Given the description of an element on the screen output the (x, y) to click on. 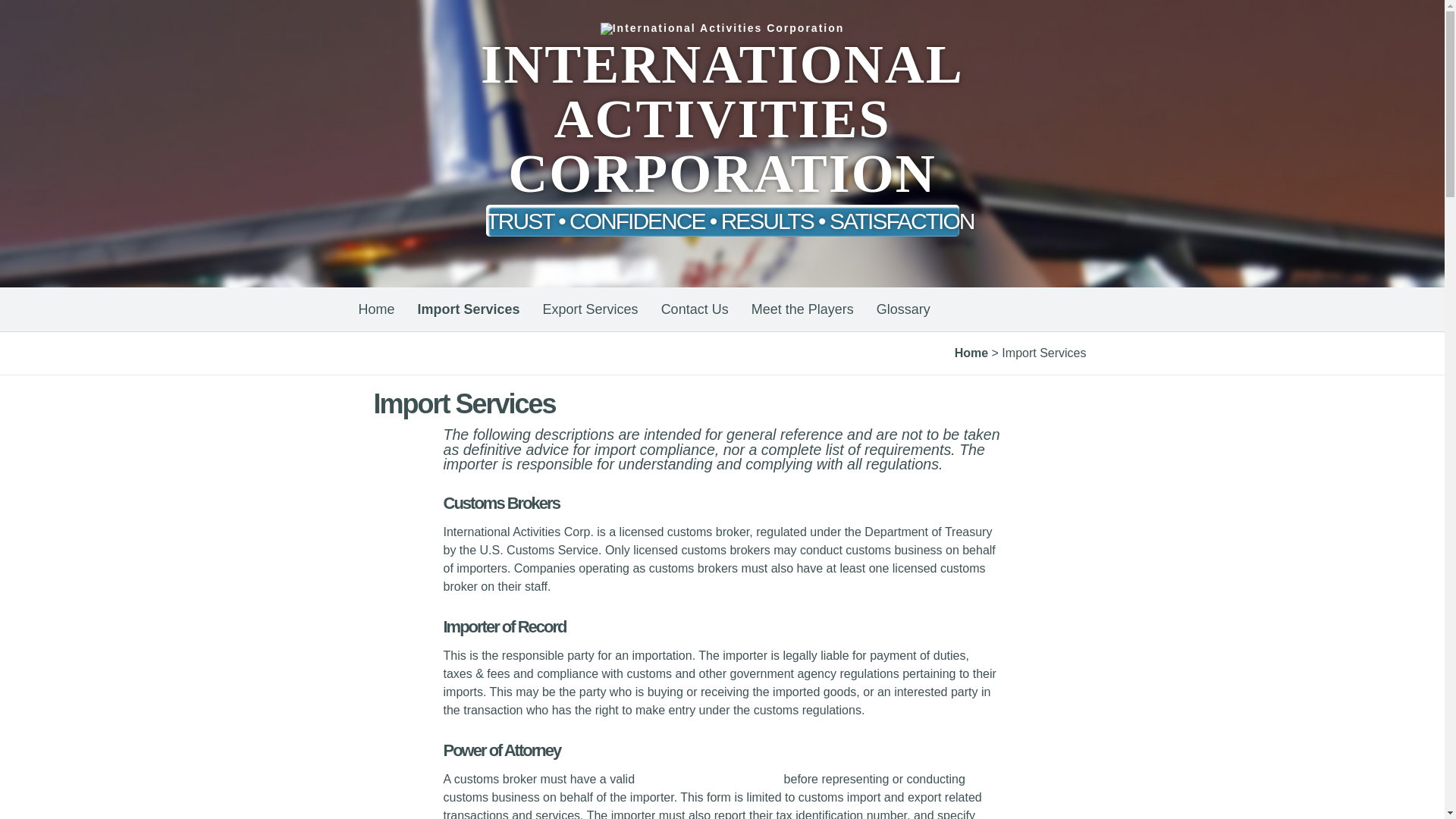
Import Services (468, 309)
Home (382, 309)
customs power of attorney (709, 779)
Meet the Players (801, 309)
Export Services (590, 309)
Contact Us (694, 309)
Home (971, 352)
Glossary (903, 309)
